Given the description of an element on the screen output the (x, y) to click on. 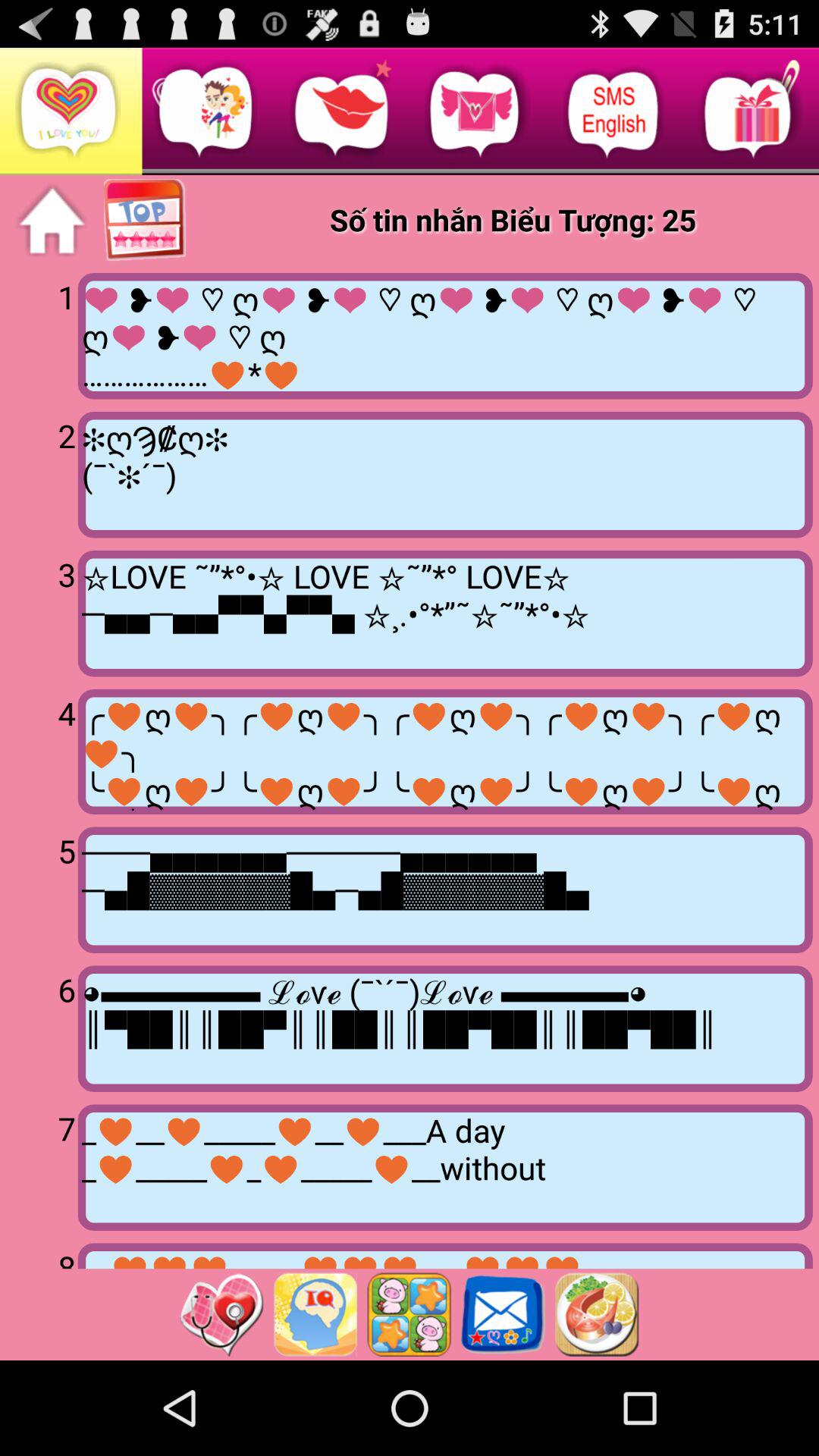
open the icon next to 7 (444, 1167)
